Given the description of an element on the screen output the (x, y) to click on. 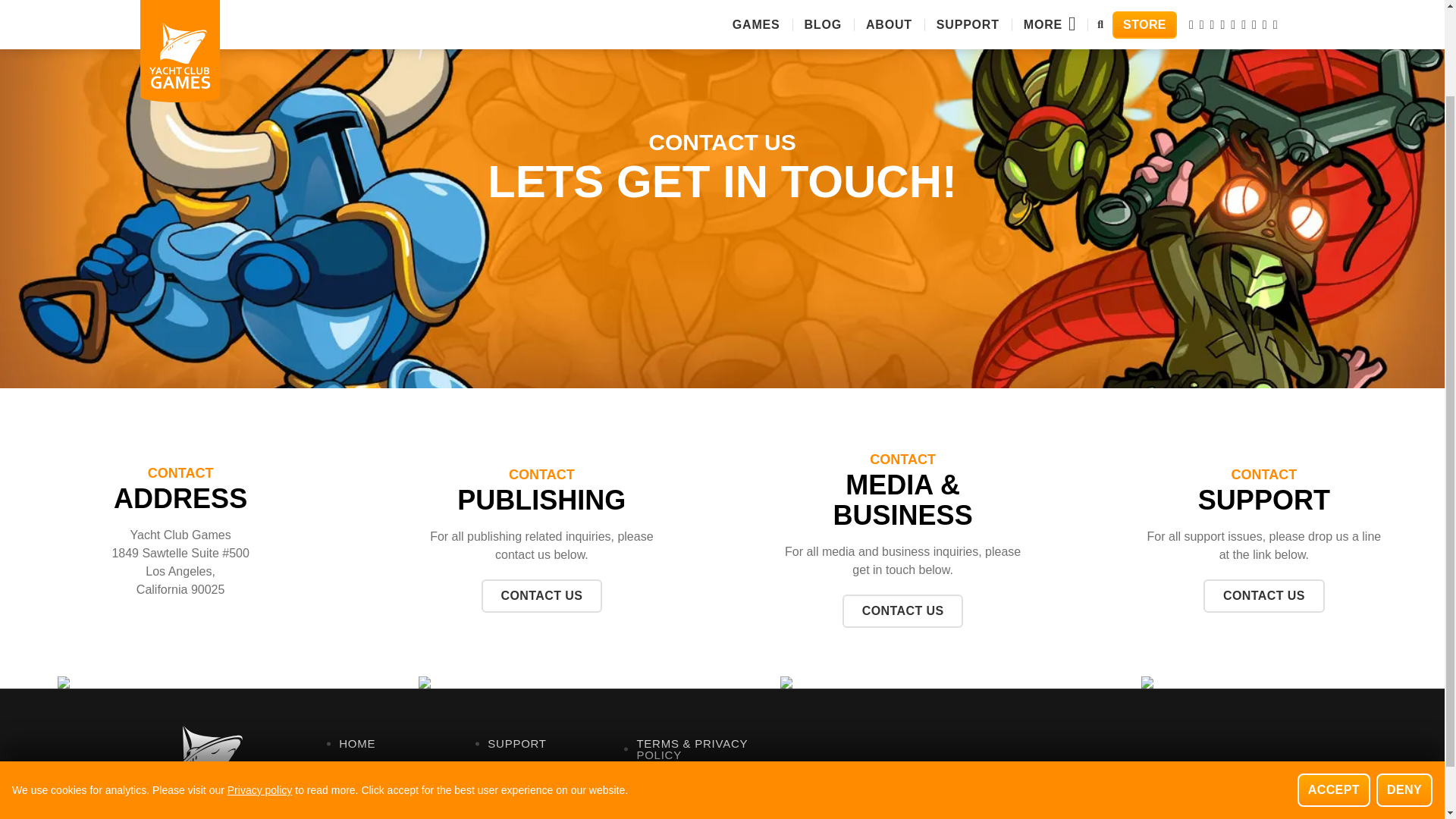
CONTACT US (1264, 595)
CAREERS (692, 778)
HOME (394, 743)
Site Build By Code32 (1229, 786)
Site Design By Fully Illustrated (1209, 804)
SUPPORT (543, 743)
PRESS (543, 766)
BLOG (394, 790)
GAMES (394, 766)
Privacy policy (259, 685)
